Given the description of an element on the screen output the (x, y) to click on. 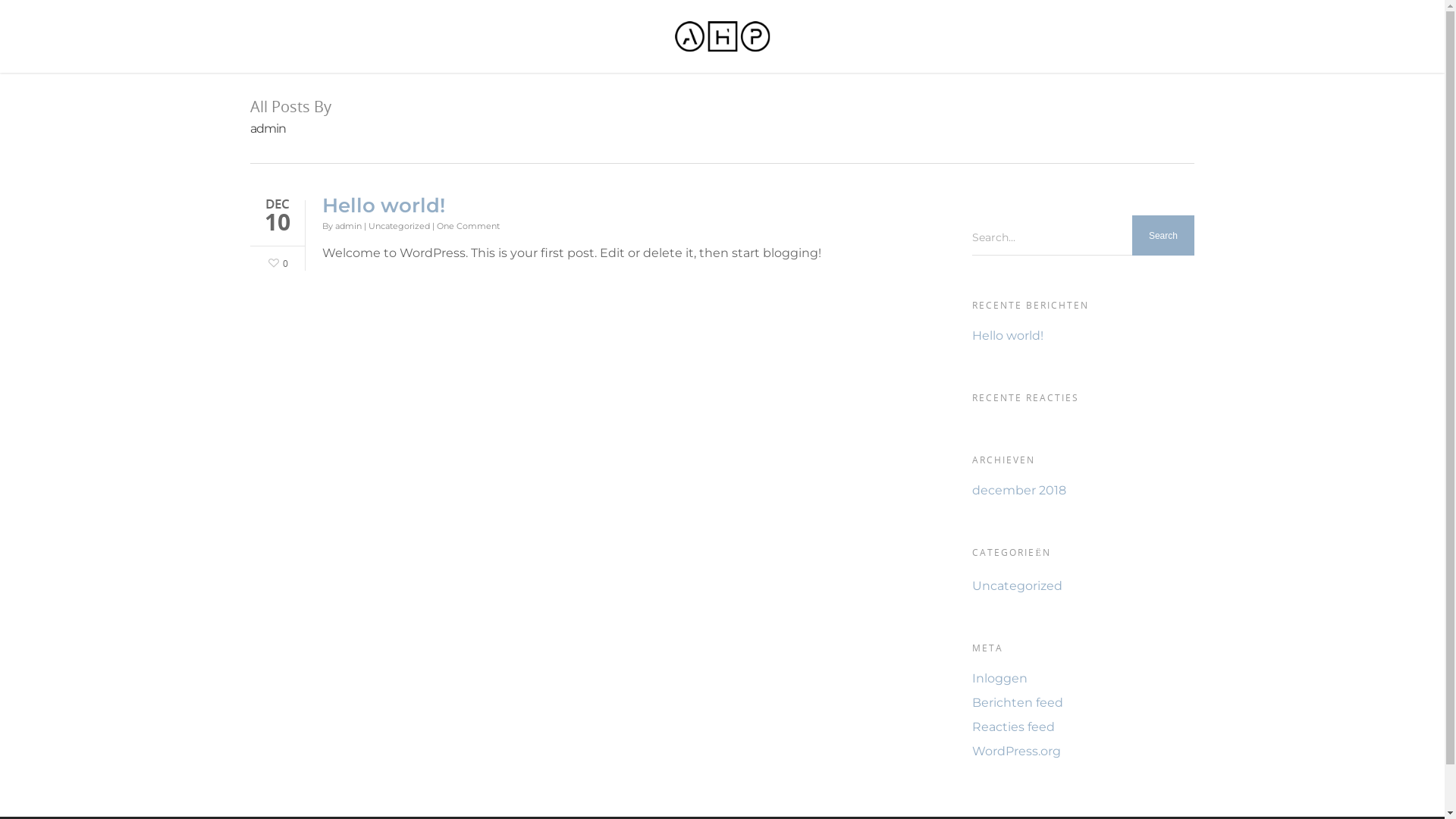
Reacties feed Element type: text (1083, 727)
admin Element type: text (348, 225)
Hello world! Element type: text (1083, 335)
Berichten feed Element type: text (1083, 702)
One Comment Element type: text (467, 225)
Uncategorized Element type: text (1083, 586)
Hello world! Element type: text (383, 205)
0 Element type: text (276, 261)
Inloggen Element type: text (1083, 678)
december 2018 Element type: text (1083, 490)
WordPress.org Element type: text (1083, 751)
Uncategorized Element type: text (398, 225)
Search for: Element type: hover (1083, 237)
Search Element type: text (1163, 235)
